Given the description of an element on the screen output the (x, y) to click on. 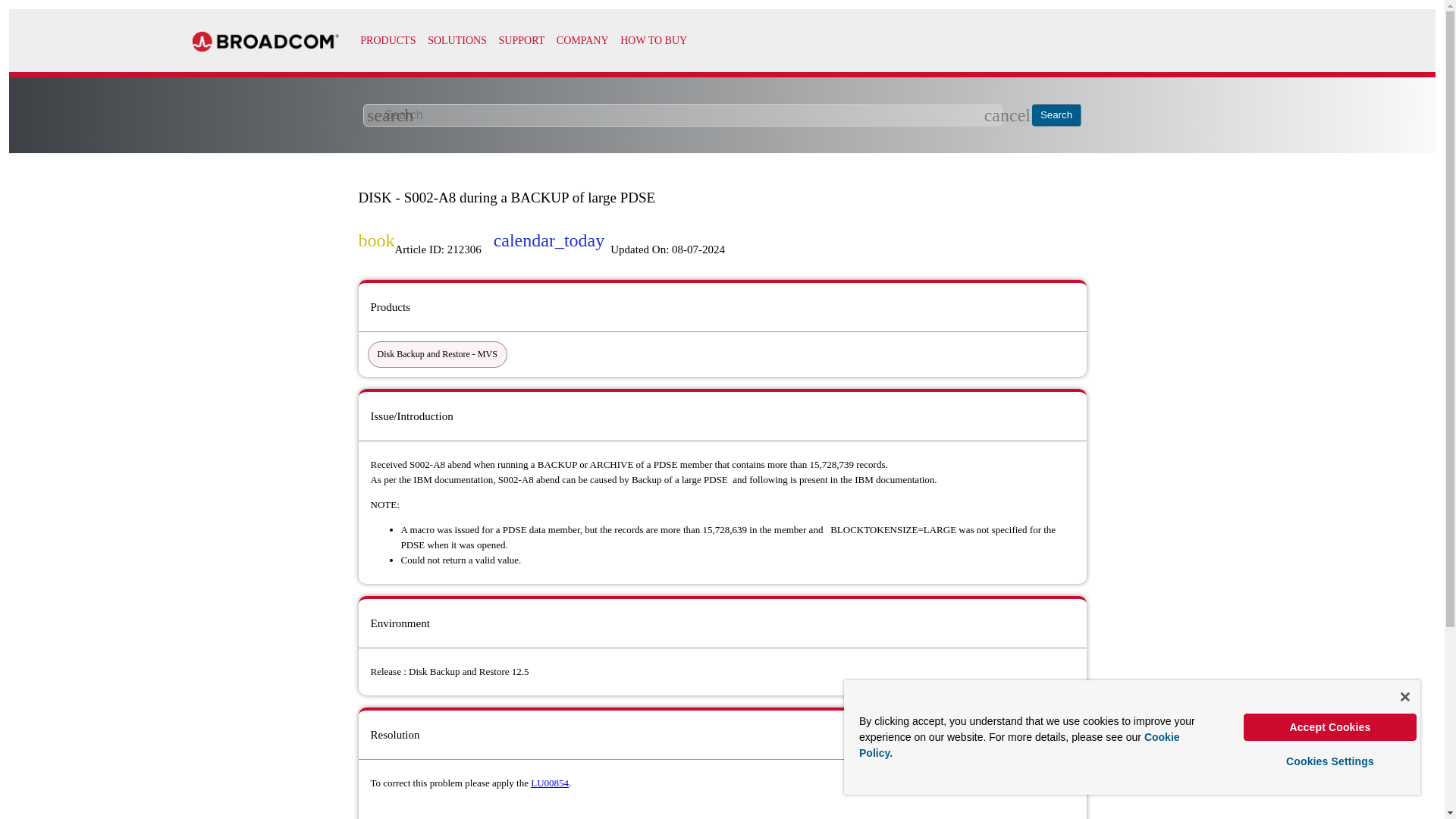
Cookie Policy. (1019, 745)
Cookies Settings (1329, 760)
Search (1056, 115)
LU00854 (550, 782)
Accept Cookies (1329, 727)
LU00854 (550, 782)
